Given the description of an element on the screen output the (x, y) to click on. 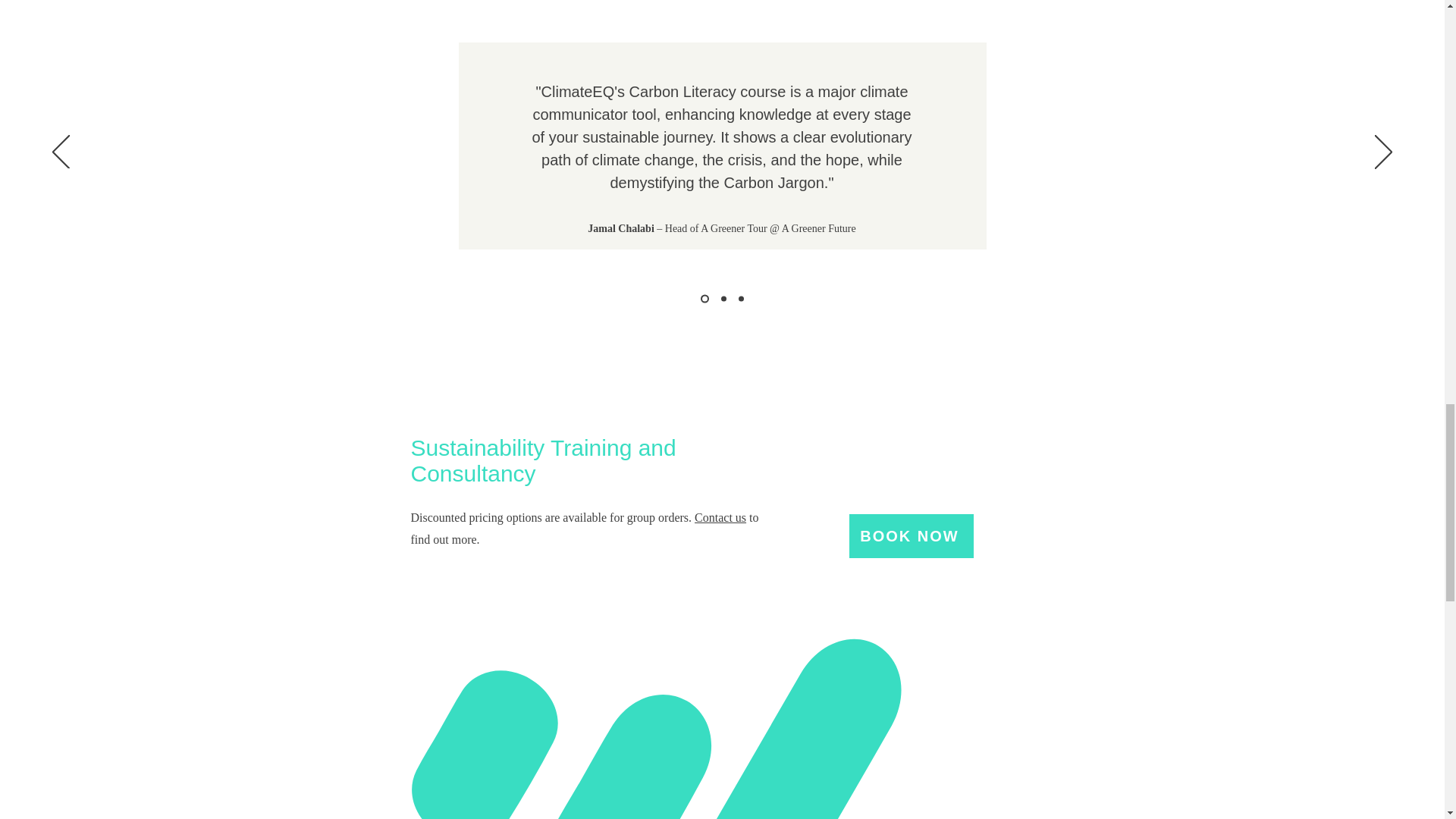
Contact us (719, 517)
BOOK NOW (911, 535)
